Given the description of an element on the screen output the (x, y) to click on. 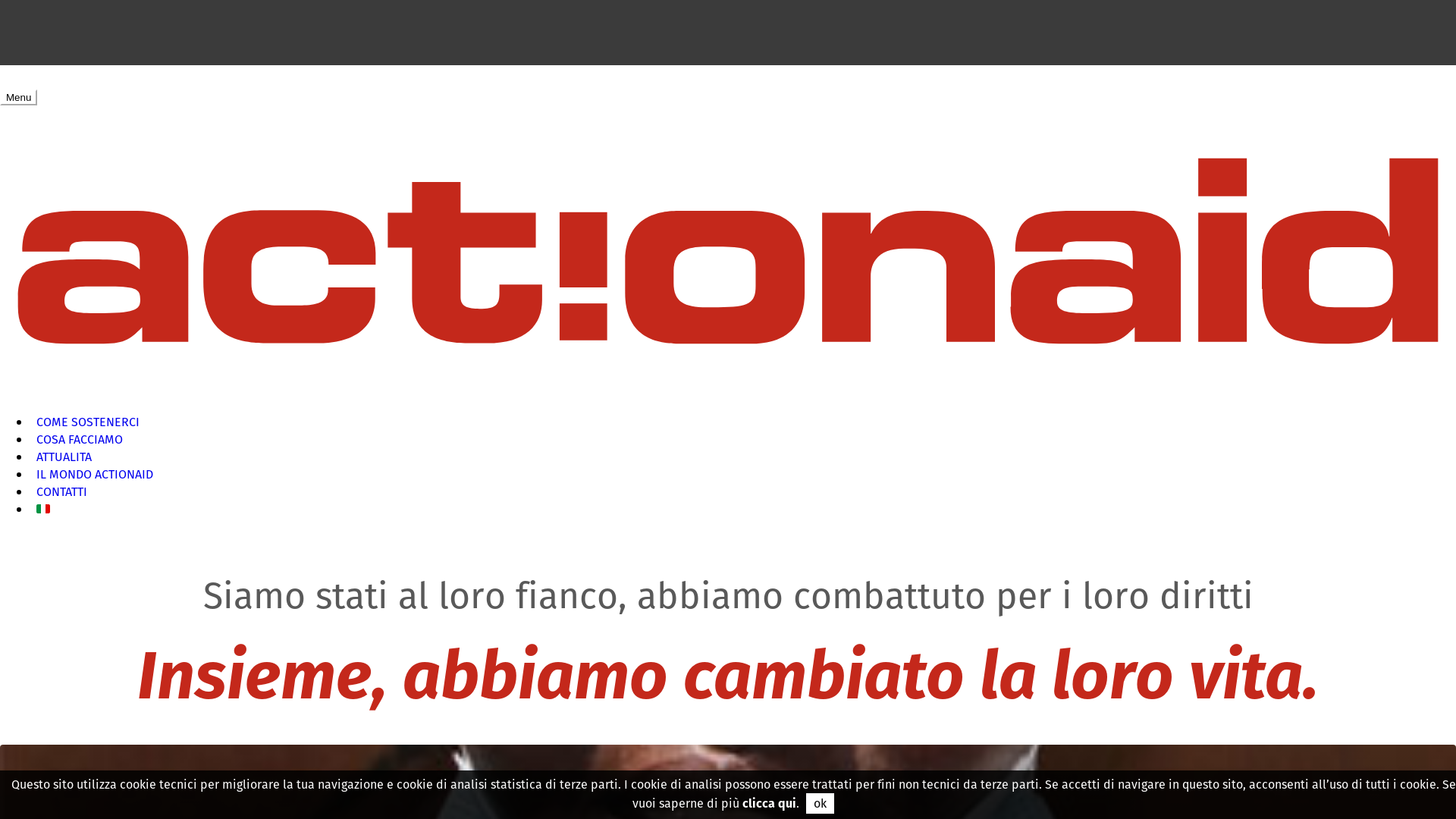
clicca qui Element type: text (769, 803)
CONTATTI Element type: text (61, 491)
ATTUALITA Element type: text (63, 456)
ok Element type: text (820, 803)
Storie di cambiamento. Element type: text (583, 485)
Italiano Element type: hover (43, 508)
COME SOSTENERCI Element type: text (87, 421)
Dona ora Element type: text (170, 256)
Resta in contatto con noi Element type: text (1310, 418)
IL MONDO ACTIONAID Element type: text (94, 474)
COSA FACCIAMO Element type: text (79, 439)
Menu Element type: text (18, 97)
